Given the description of an element on the screen output the (x, y) to click on. 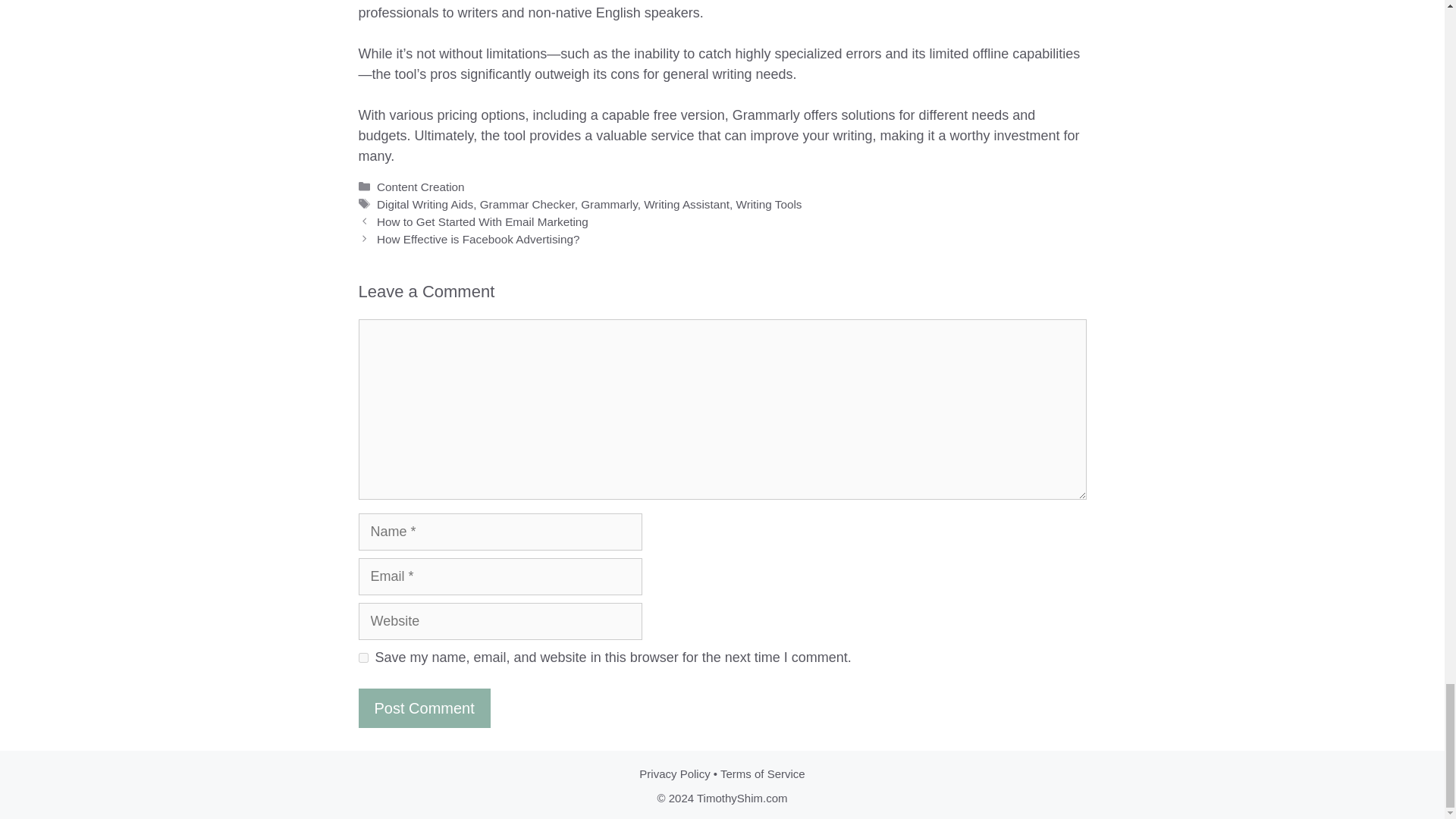
Grammar Checker (527, 204)
Writing Assistant (686, 204)
Content Creation (420, 186)
Grammarly (608, 204)
Digital Writing Aids (425, 204)
Writing Tools (768, 204)
yes (363, 657)
Post Comment (423, 708)
